Given the description of an element on the screen output the (x, y) to click on. 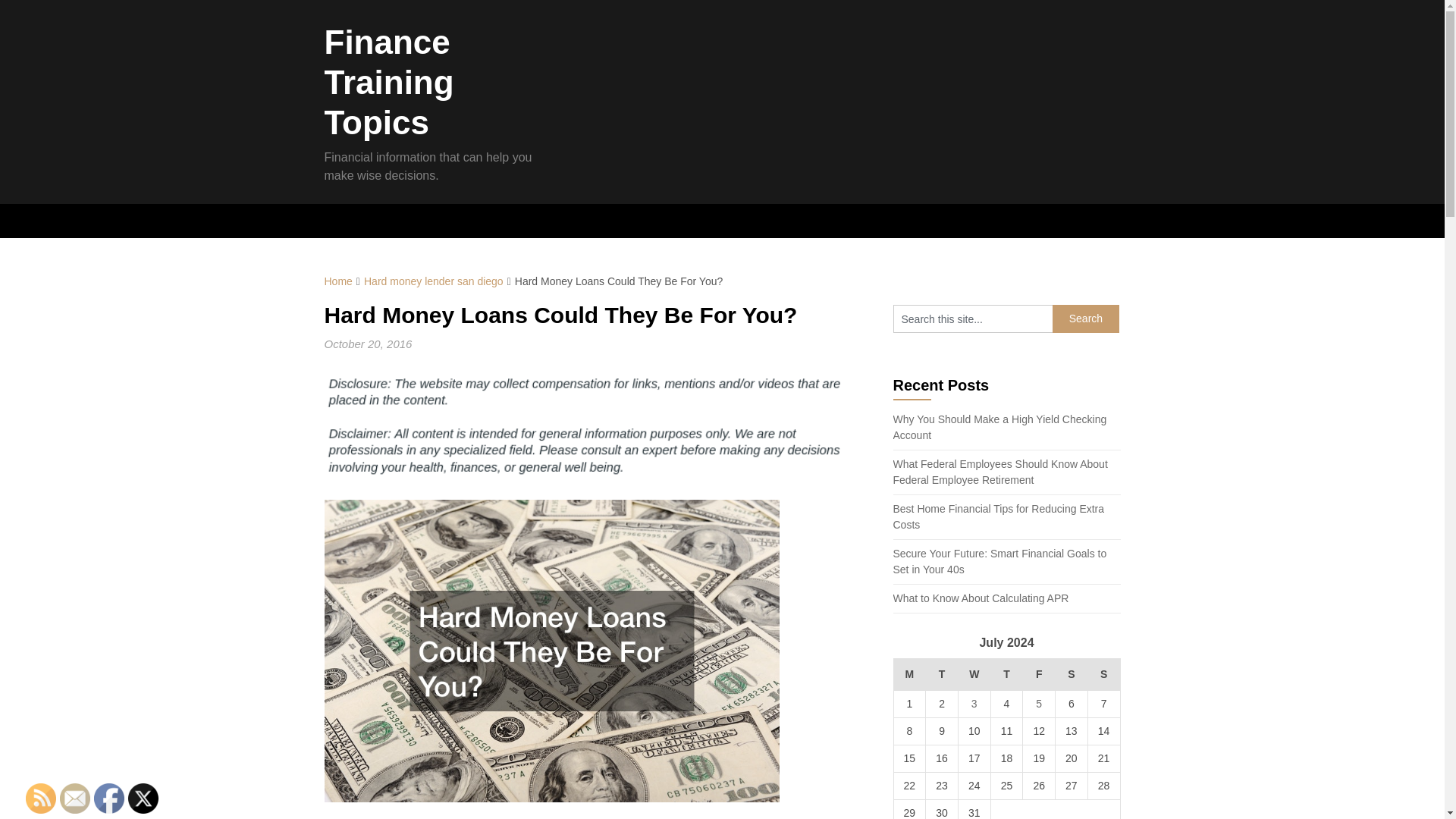
Best Home Financial Tips for Reducing Extra Costs (999, 516)
Facebook (108, 798)
Finance Training Topics (389, 81)
Sunday (1103, 675)
Tuesday (942, 675)
Hard money lender san diego (433, 281)
Secure Your Future: Smart Financial Goals to Set in Your 40s (999, 561)
Thursday (1006, 675)
Monday (909, 675)
RSS (41, 798)
Search this site... (972, 318)
Why You Should Make a High Yield Checking Account (999, 427)
Follow by Email (74, 798)
Friday (1039, 675)
Search (1085, 318)
